Given the description of an element on the screen output the (x, y) to click on. 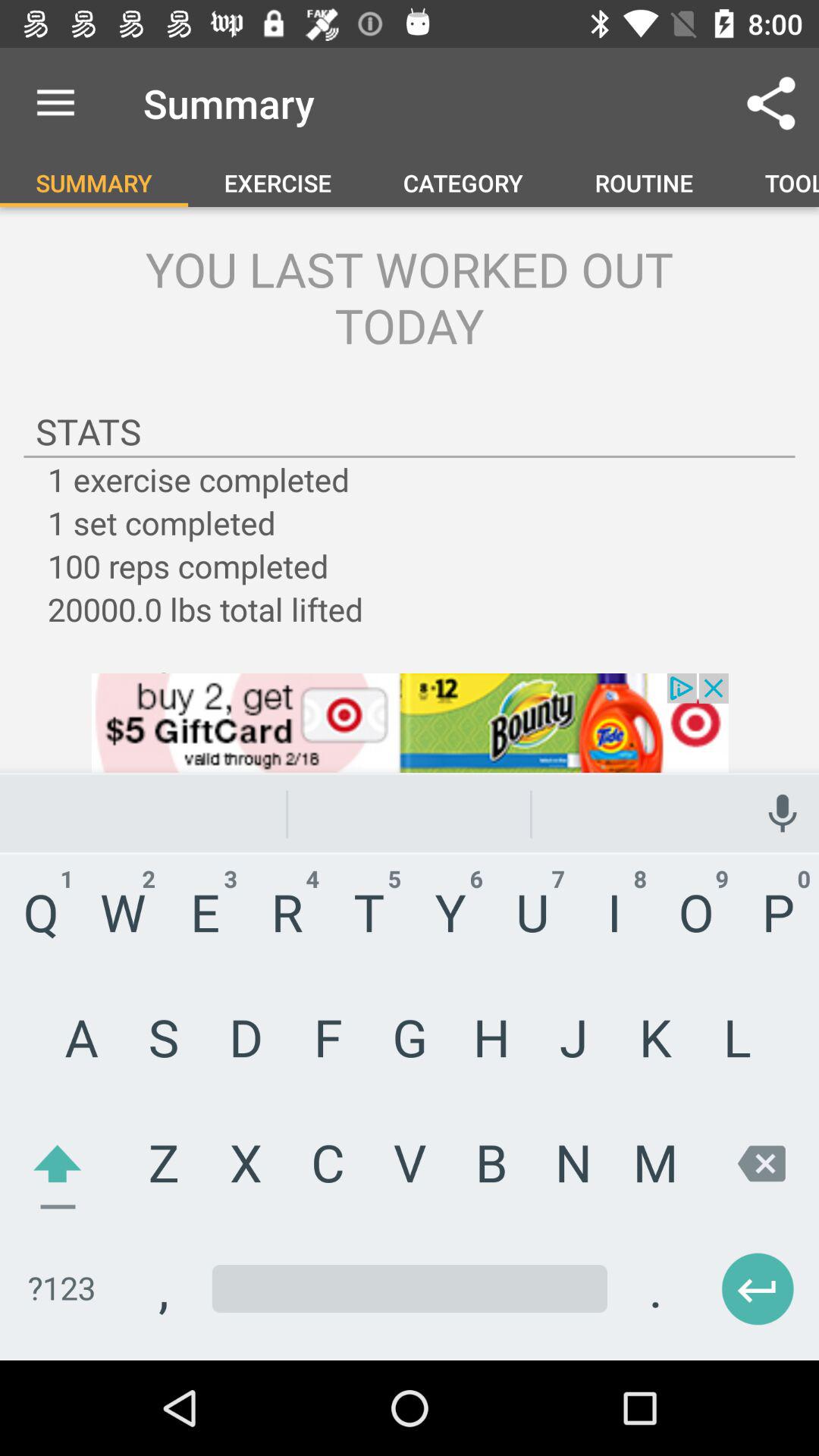
click the category option (462, 182)
click the share option on the top right corner (771, 103)
